Given the description of an element on the screen output the (x, y) to click on. 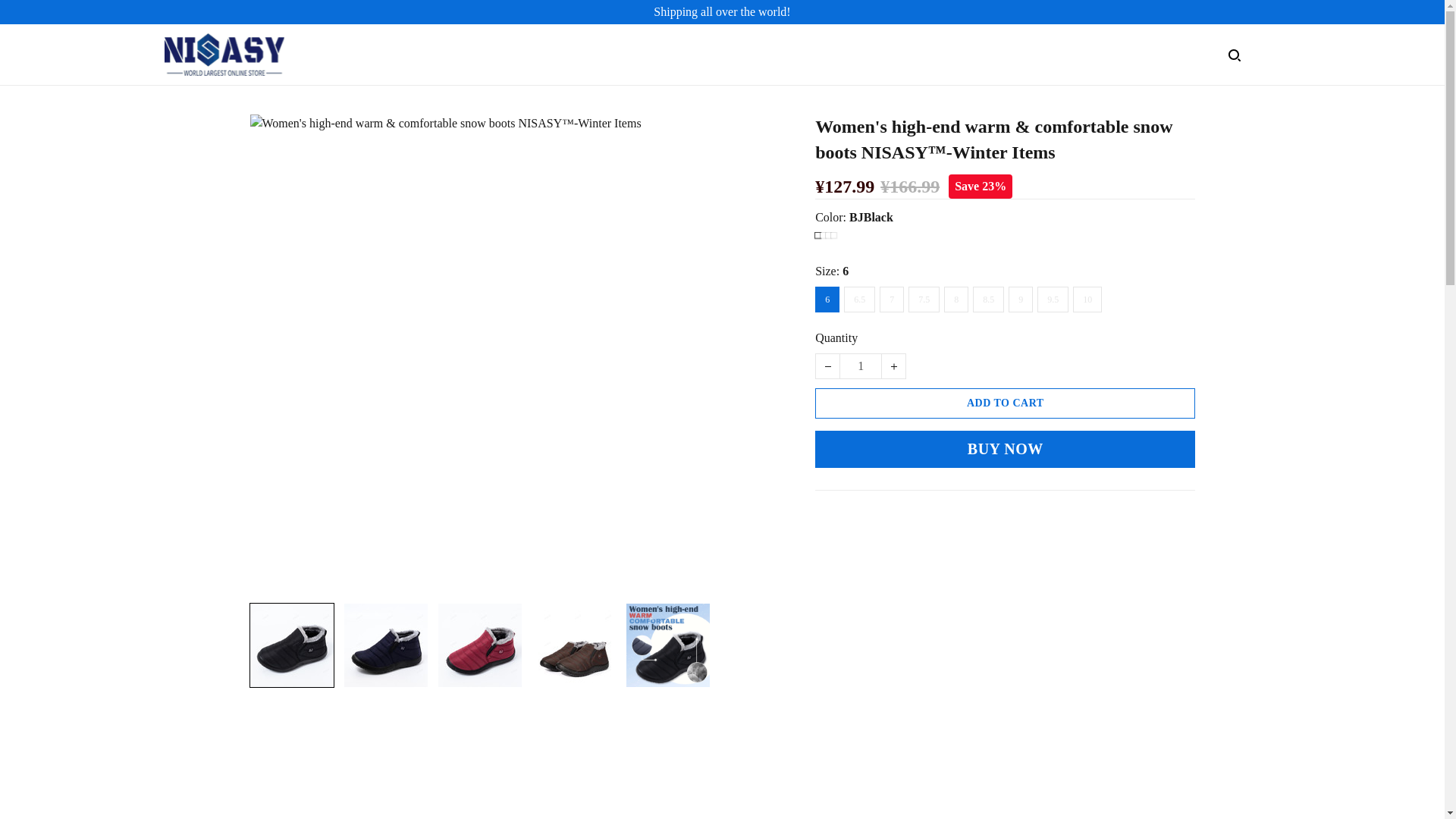
8.5 (988, 299)
BUY NOW (1005, 448)
7.5 (923, 299)
8 (955, 299)
6.5 (859, 299)
7 (891, 299)
6 (827, 299)
9.5 (1052, 299)
ADD TO CART (1005, 403)
10 (1087, 299)
